Given the description of an element on the screen output the (x, y) to click on. 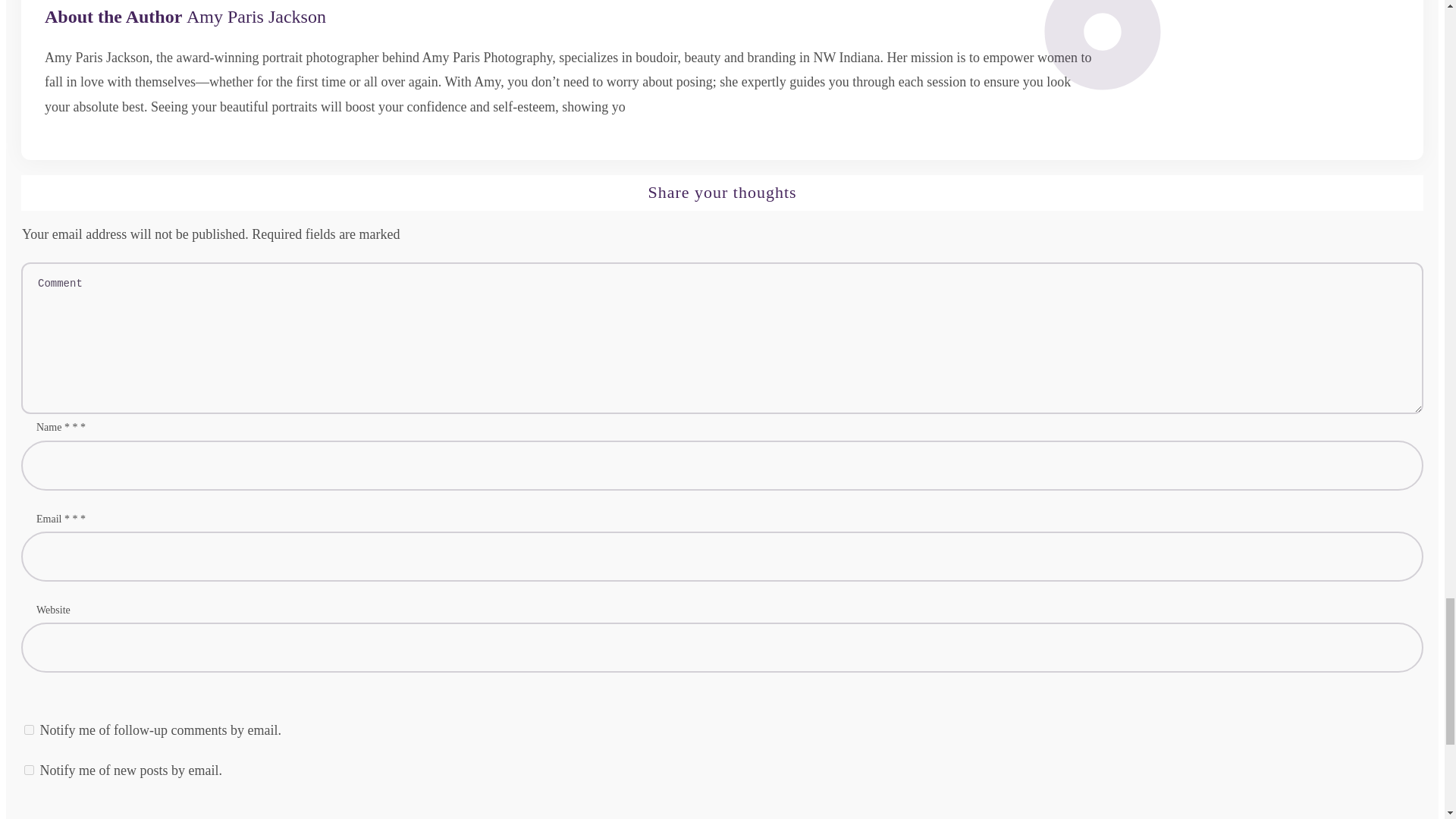
subscribe (28, 729)
Amy Paris Jackson (256, 16)
Amy Paris Jackson (256, 16)
undefined (1176, 64)
POST COMMENT (1353, 816)
subscribe (28, 769)
